Given the description of an element on the screen output the (x, y) to click on. 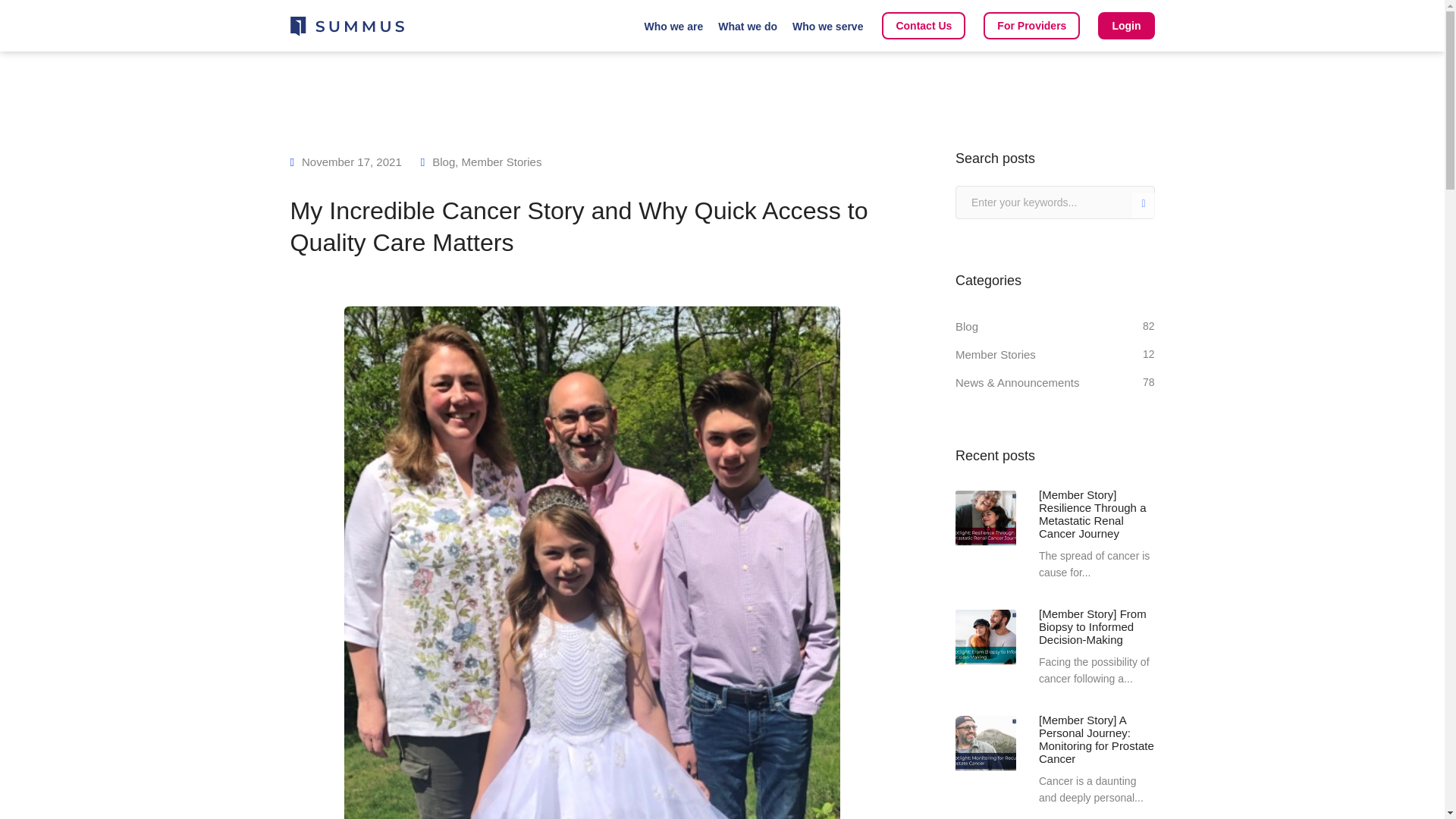
Blog (966, 326)
For Providers (1032, 25)
Blog (443, 161)
Contact Us (923, 25)
Login (1125, 25)
Who we serve (827, 27)
Member Stories (501, 161)
Who we are (674, 27)
What we do (747, 27)
Member Stories (995, 354)
